Given the description of an element on the screen output the (x, y) to click on. 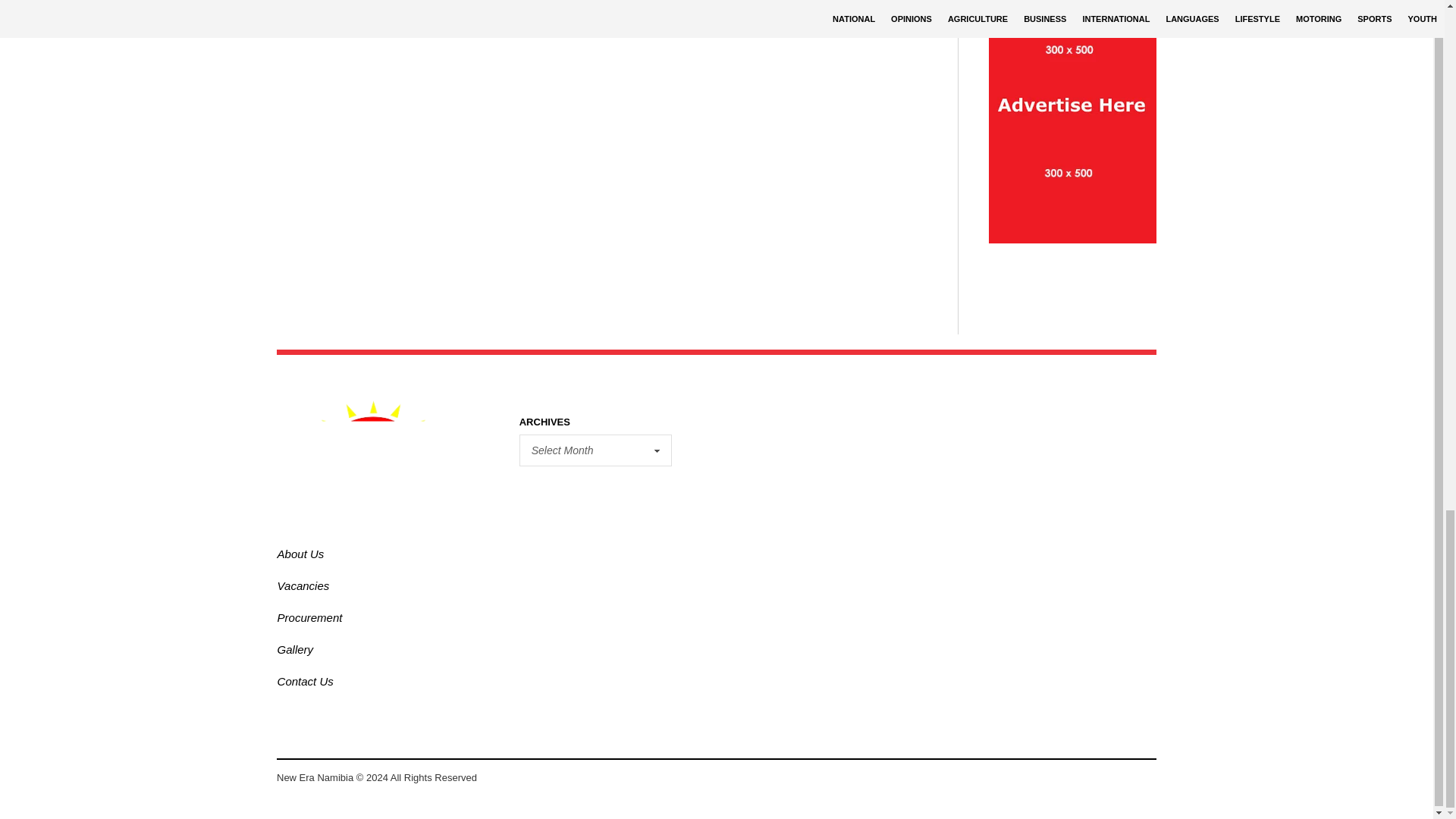
Vacancies (304, 585)
Gallery (296, 649)
Procurement (310, 617)
